Given the description of an element on the screen output the (x, y) to click on. 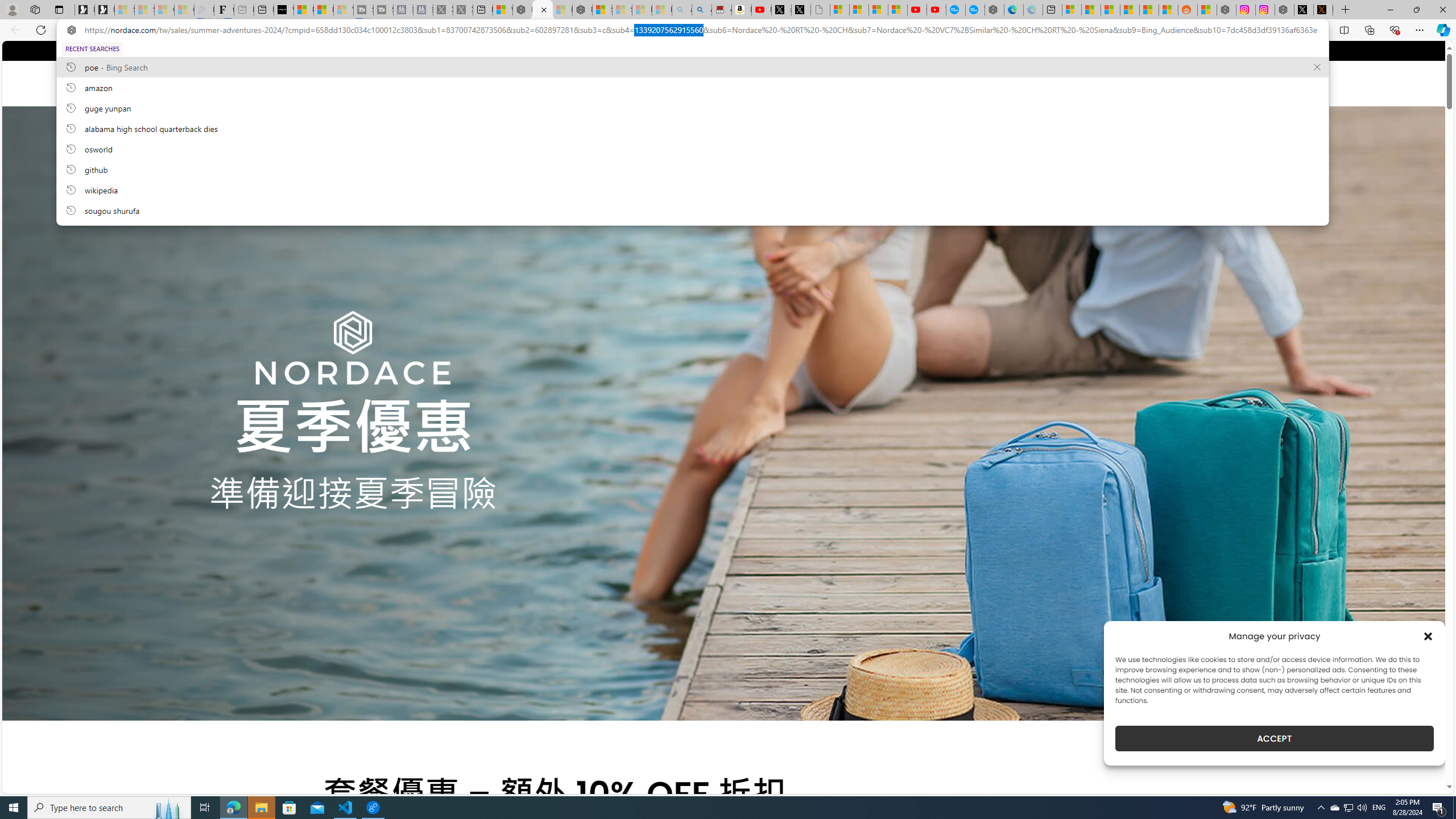
Amazon Echo Dot PNG - Search Images (701, 9)
Nordace (374, 83)
Nordace (@NordaceOfficial) / X (1303, 9)
X - Sleeping (462, 9)
Settings and more (Alt+F) (1419, 29)
Shanghai, China Weather trends | Microsoft Weather (1168, 9)
Address and search bar (701, 29)
Shanghai, China hourly forecast | Microsoft Weather (1110, 9)
YouTube Kids - An App Created for Kids to Explore Content (935, 9)
